Given the description of an element on the screen output the (x, y) to click on. 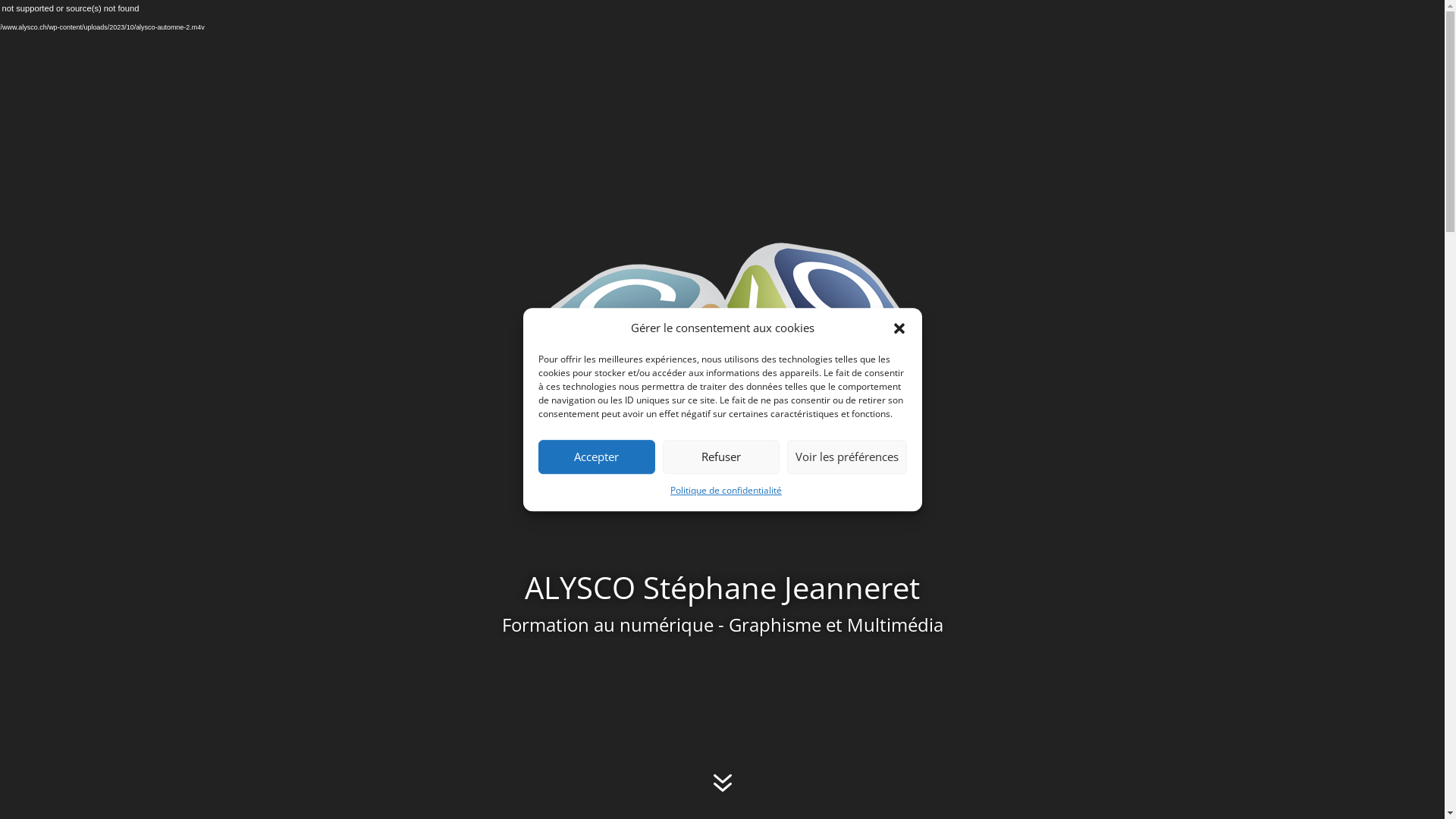
Refuser Element type: text (720, 456)
7 Element type: text (721, 783)
Accepter Element type: text (596, 456)
